Given the description of an element on the screen output the (x, y) to click on. 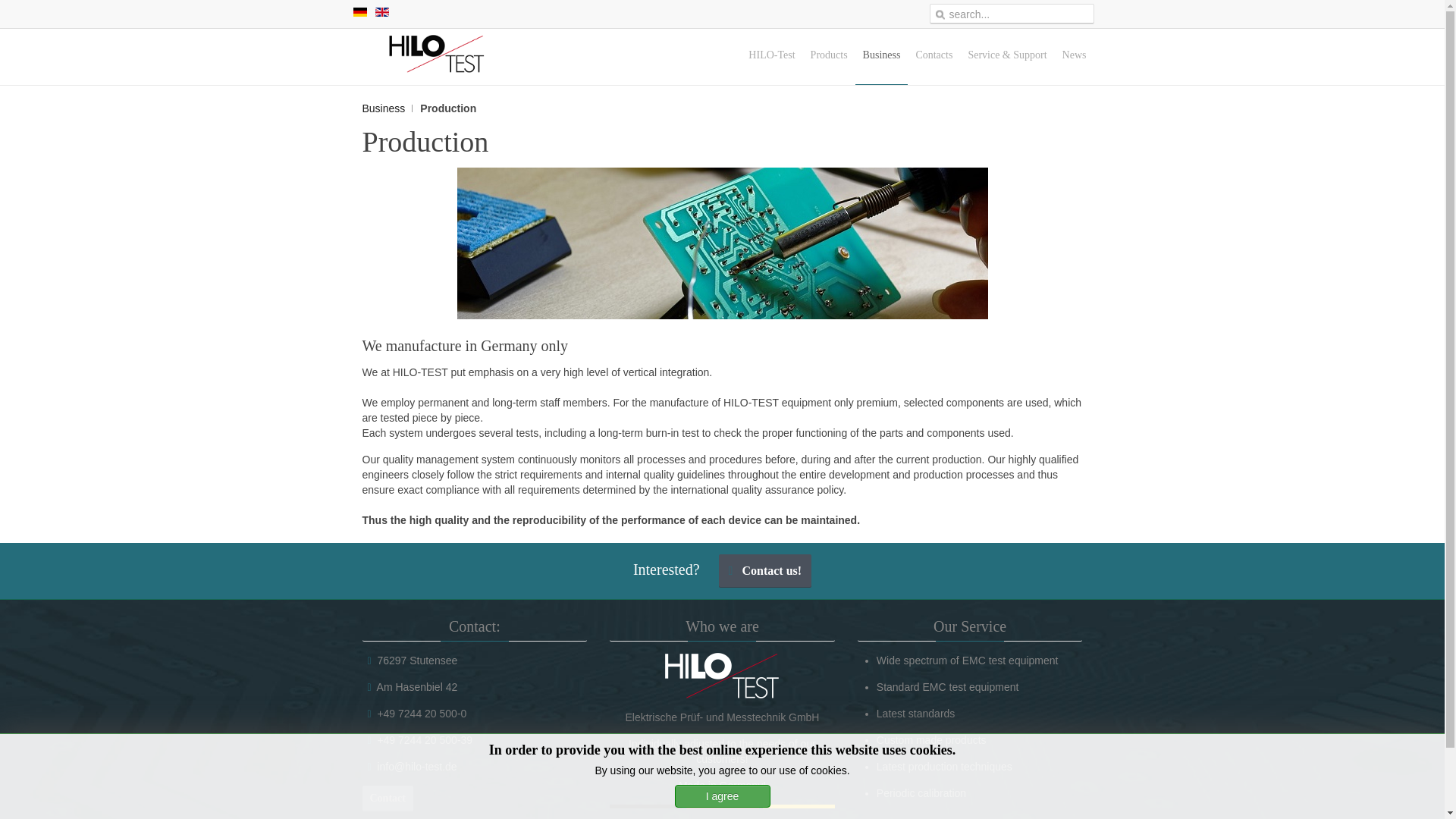
Contact (387, 798)
GermanDE-CH-AT (359, 11)
Masoko (722, 806)
HILO-TEST (721, 675)
Reset (3, 2)
Business (387, 108)
Business (882, 56)
Contacts (933, 56)
HILO-Test (771, 56)
   Contact us! (765, 571)
Products (829, 56)
